Given the description of an element on the screen output the (x, y) to click on. 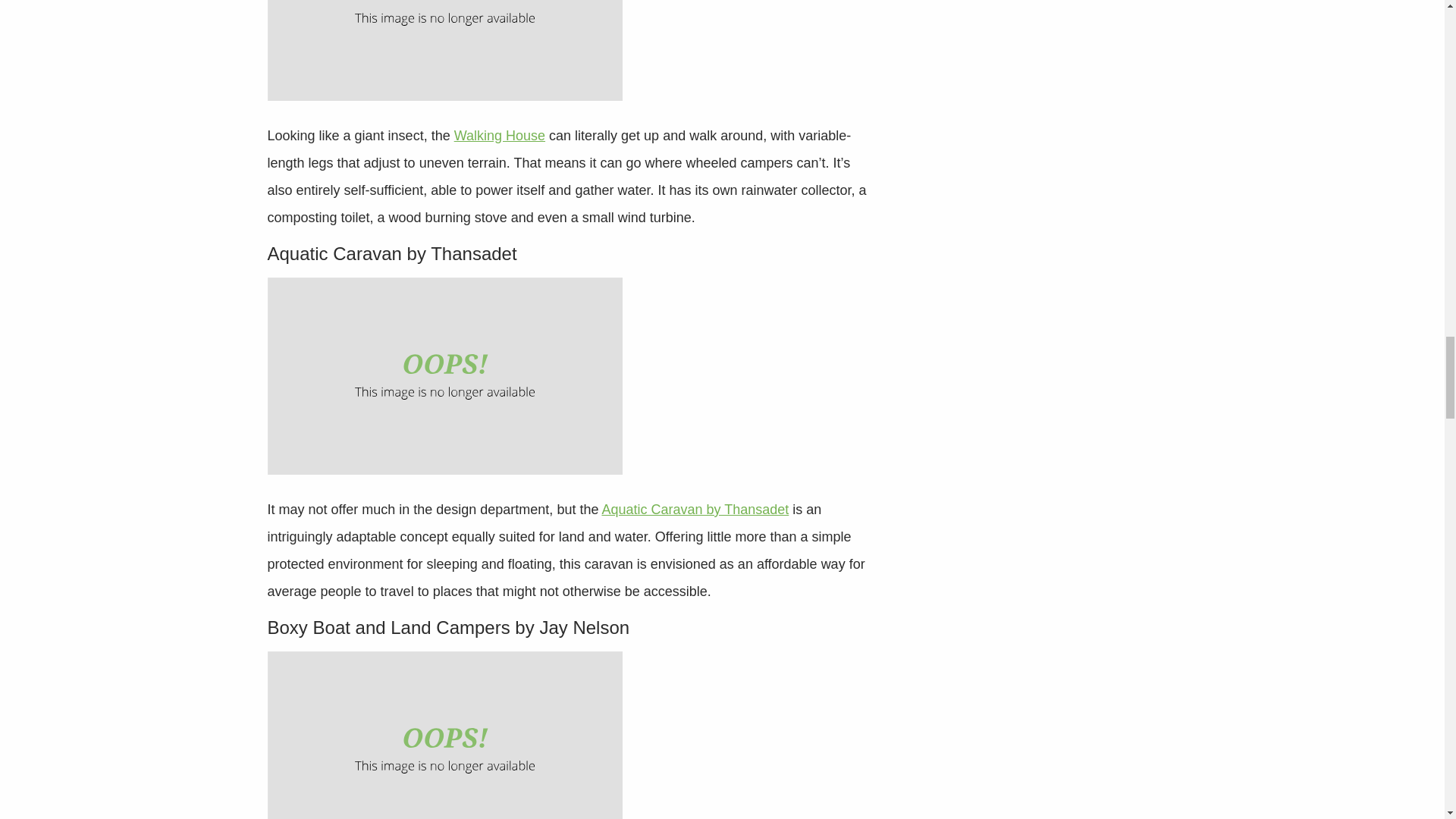
Walking House (499, 135)
Crazy Campers Aquatic Caravan (443, 376)
Crazy Campers SIx Legged Caravan (443, 50)
Aquatic Caravan by Thansadet (695, 509)
Crazy Campers Jay Nelson 1 (443, 735)
